Given the description of an element on the screen output the (x, y) to click on. 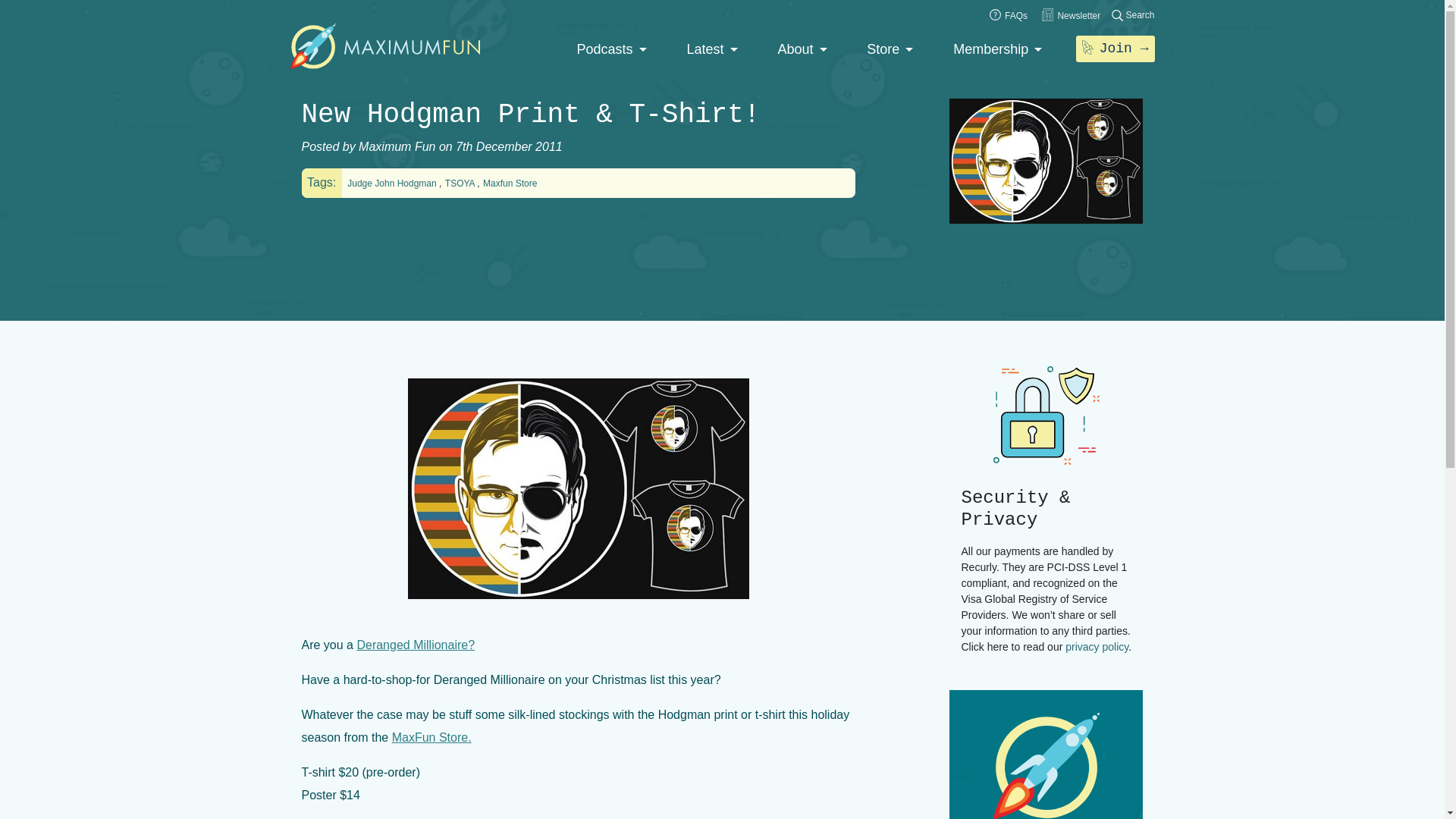
About (801, 49)
Latest (710, 49)
Join (1114, 49)
Store (889, 49)
Podcasts (611, 49)
Membership (997, 49)
Newsletter (1071, 15)
Latest (710, 49)
FAQs (1008, 15)
About (801, 49)
Search (1133, 14)
Our shows are made by hand for you (611, 49)
